Given the description of an element on the screen output the (x, y) to click on. 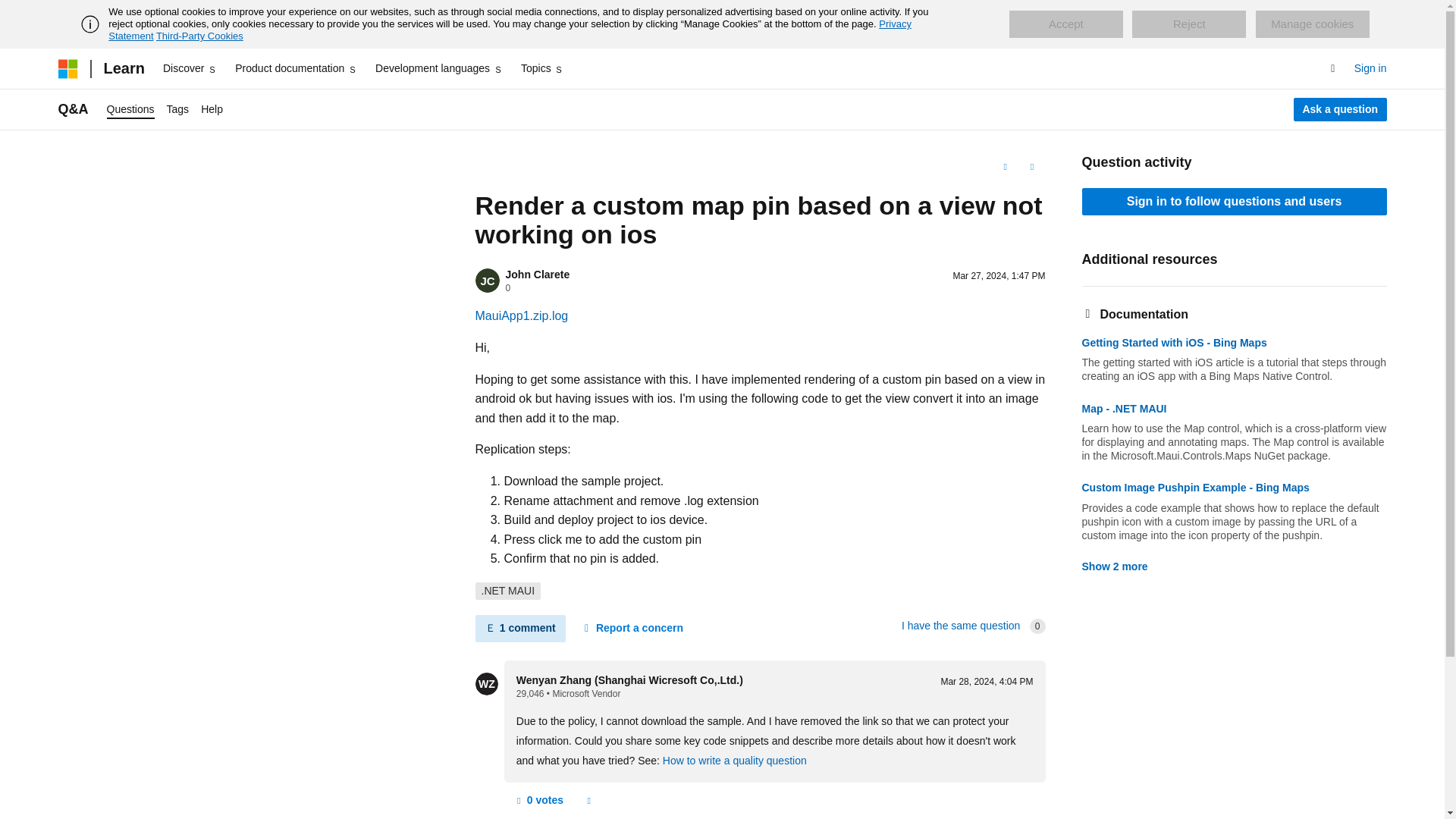
Learn (123, 68)
Topics (542, 68)
Development languages (438, 68)
Share this question (1031, 166)
Report a concern (588, 800)
Report a concern (632, 628)
You have the same or similar question (960, 625)
Sign in (1370, 68)
Ask a question (1340, 109)
John Clarete (537, 274)
Discover (189, 68)
Privacy Statement (509, 29)
Reject (1189, 23)
Third-Party Cookies (199, 35)
Product documentation (295, 68)
